Given the description of an element on the screen output the (x, y) to click on. 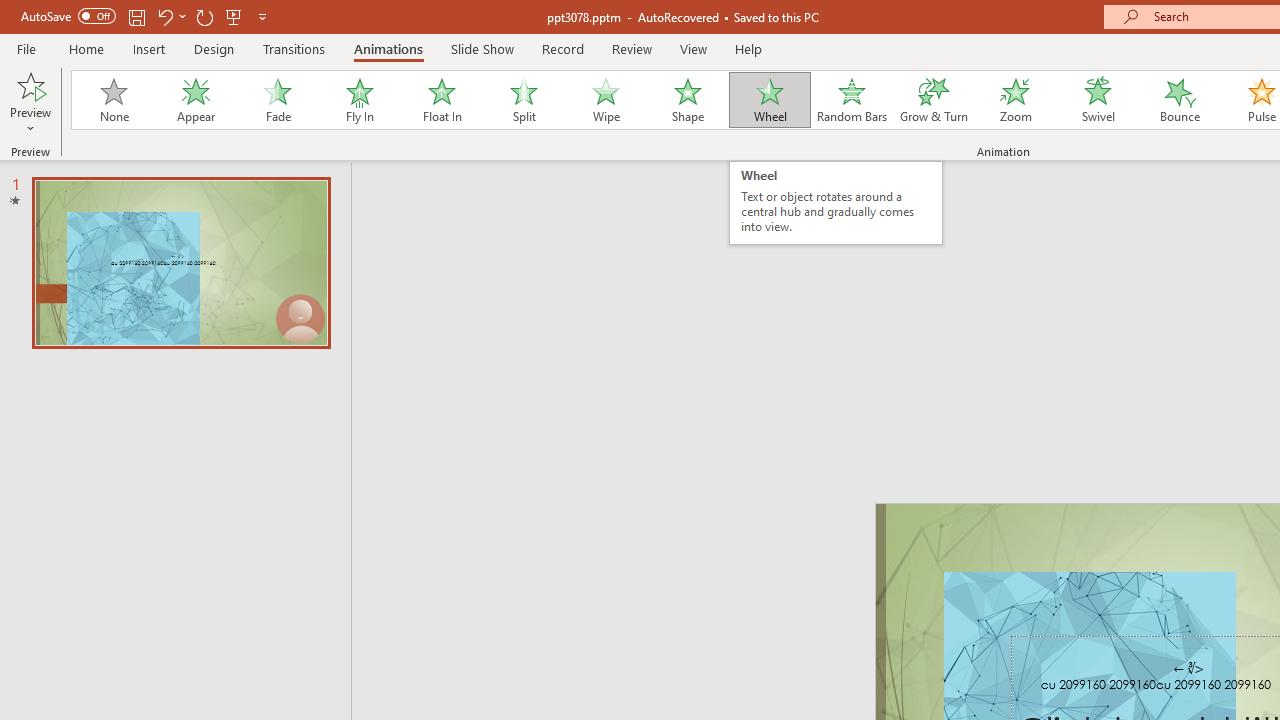
Swivel (1098, 100)
Appear (195, 100)
Fly In (359, 100)
